Given the description of an element on the screen output the (x, y) to click on. 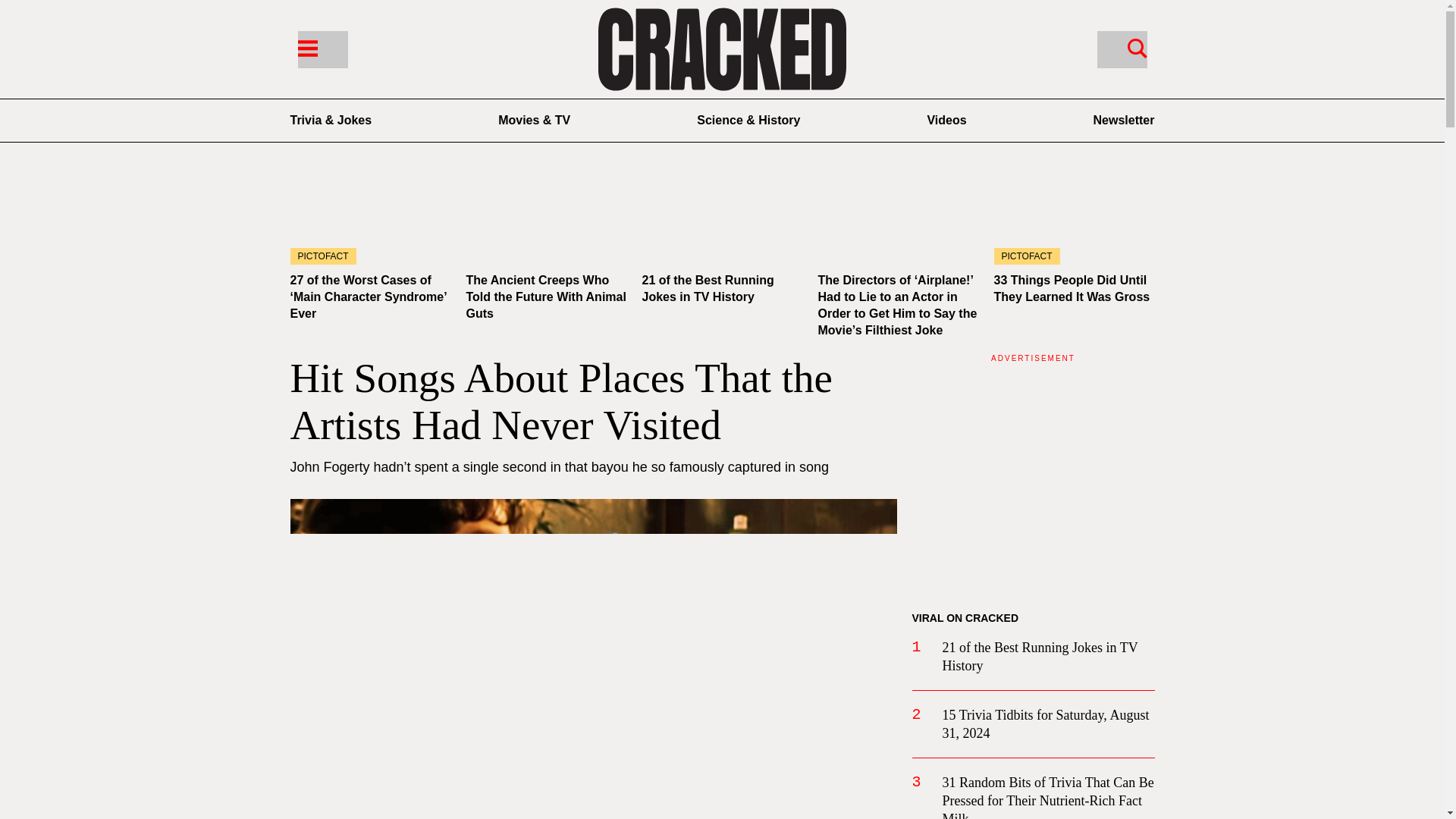
33 Things People Did Until They Learned It Was Gross (1071, 288)
Search (1136, 47)
The Ancient Creeps Who Told the Future With Animal Guts (545, 219)
Menu (307, 47)
Newsletter (1123, 119)
Search (1121, 48)
Cracked Newsletter (1123, 119)
PICTOFACT (1073, 219)
Menu (322, 48)
Videos (946, 119)
